Given the description of an element on the screen output the (x, y) to click on. 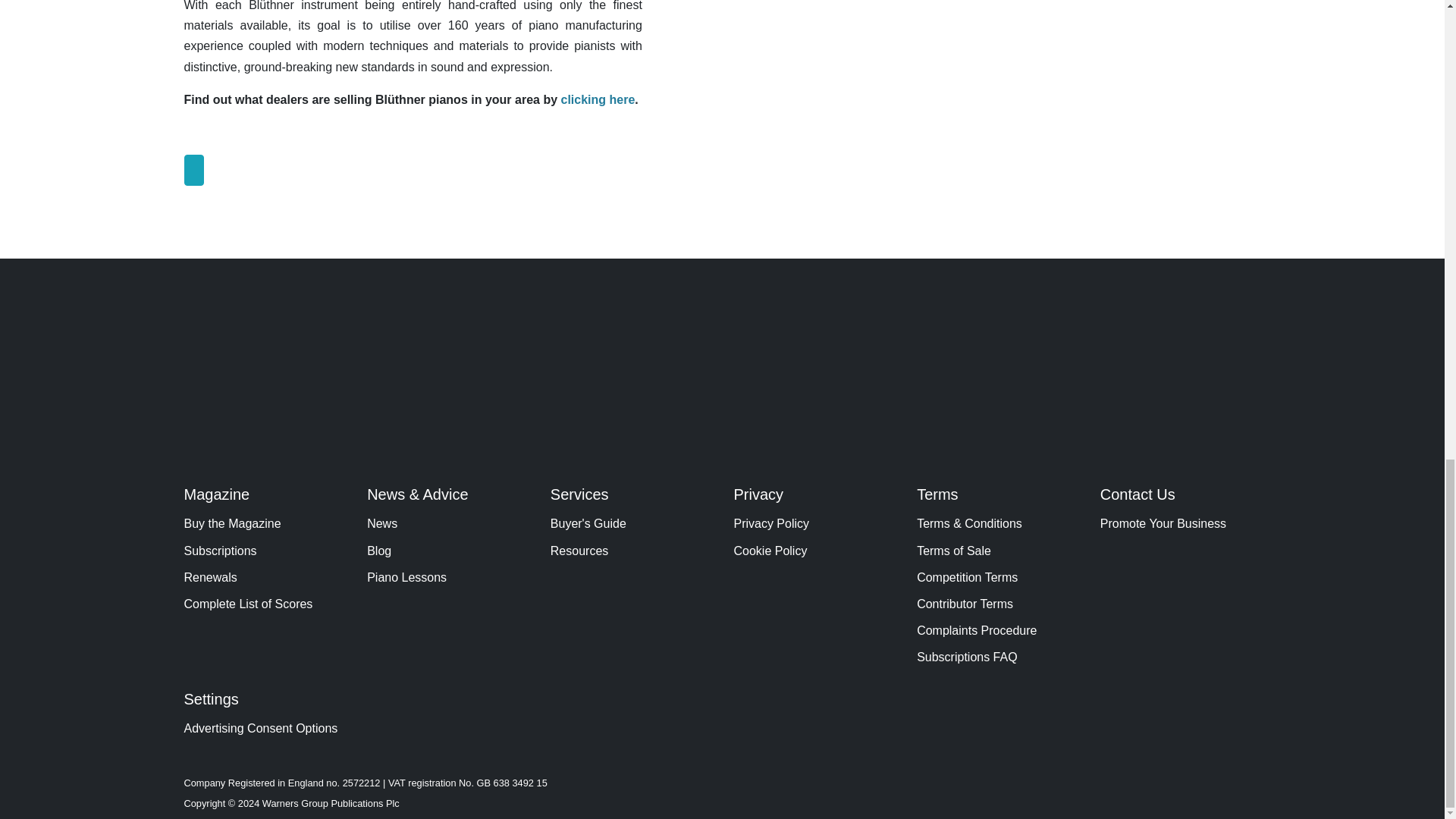
View your Advertising Consent options for this website (263, 728)
